Given the description of an element on the screen output the (x, y) to click on. 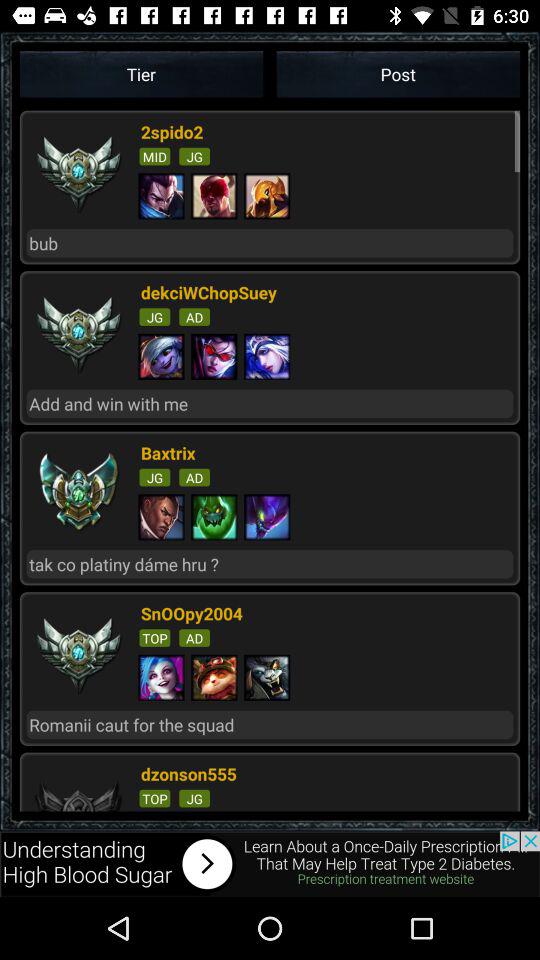
search about add (270, 864)
